Given the description of an element on the screen output the (x, y) to click on. 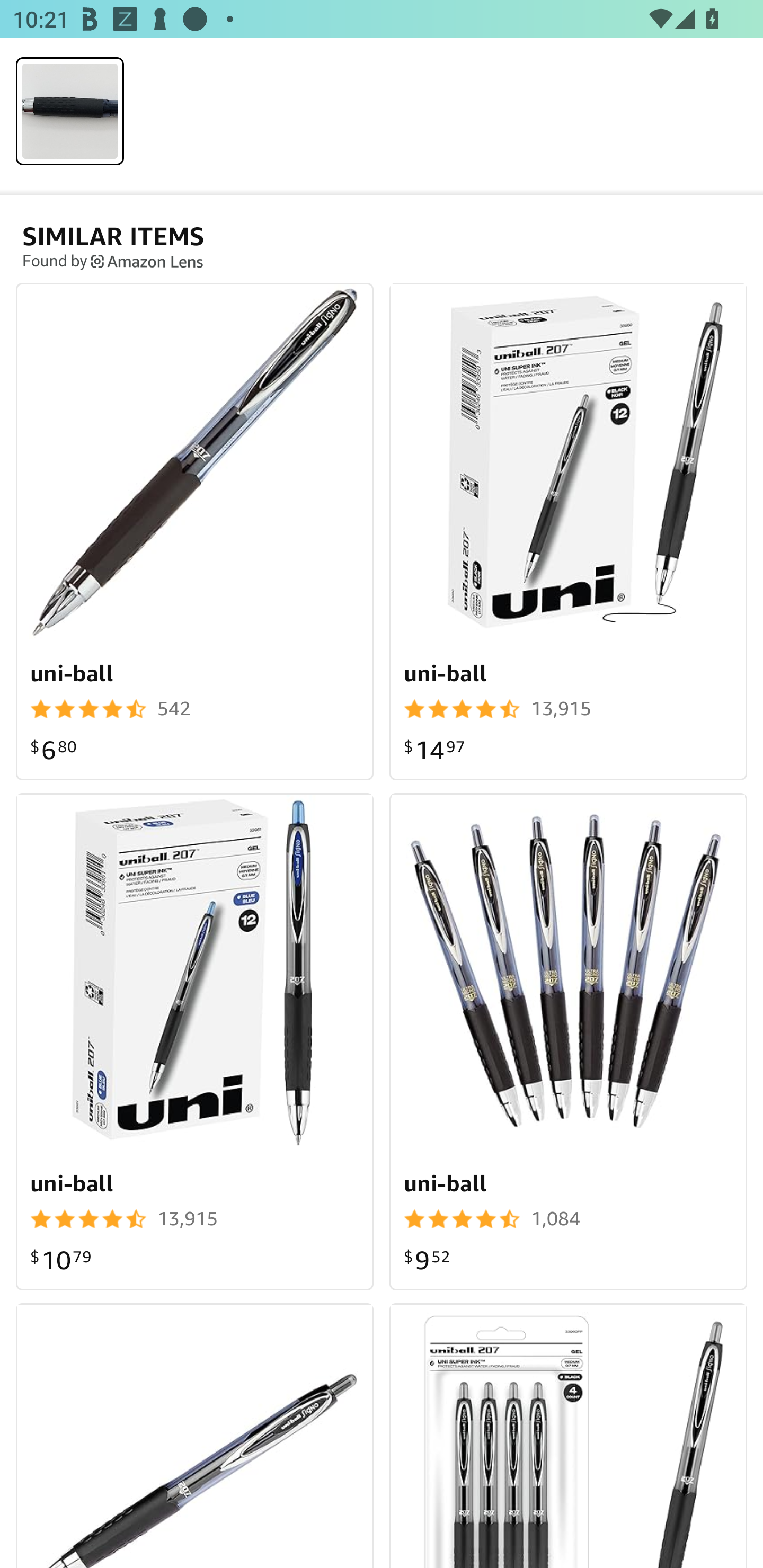
uni-ball 542 $ 6 80 (194, 531)
uni-ball 13,915 $ 14 97 (567, 531)
uni-ball 13,915 $ 10 79 (194, 1041)
uni-ball 1,084 $ 9 52 (567, 1041)
